Given the description of an element on the screen output the (x, y) to click on. 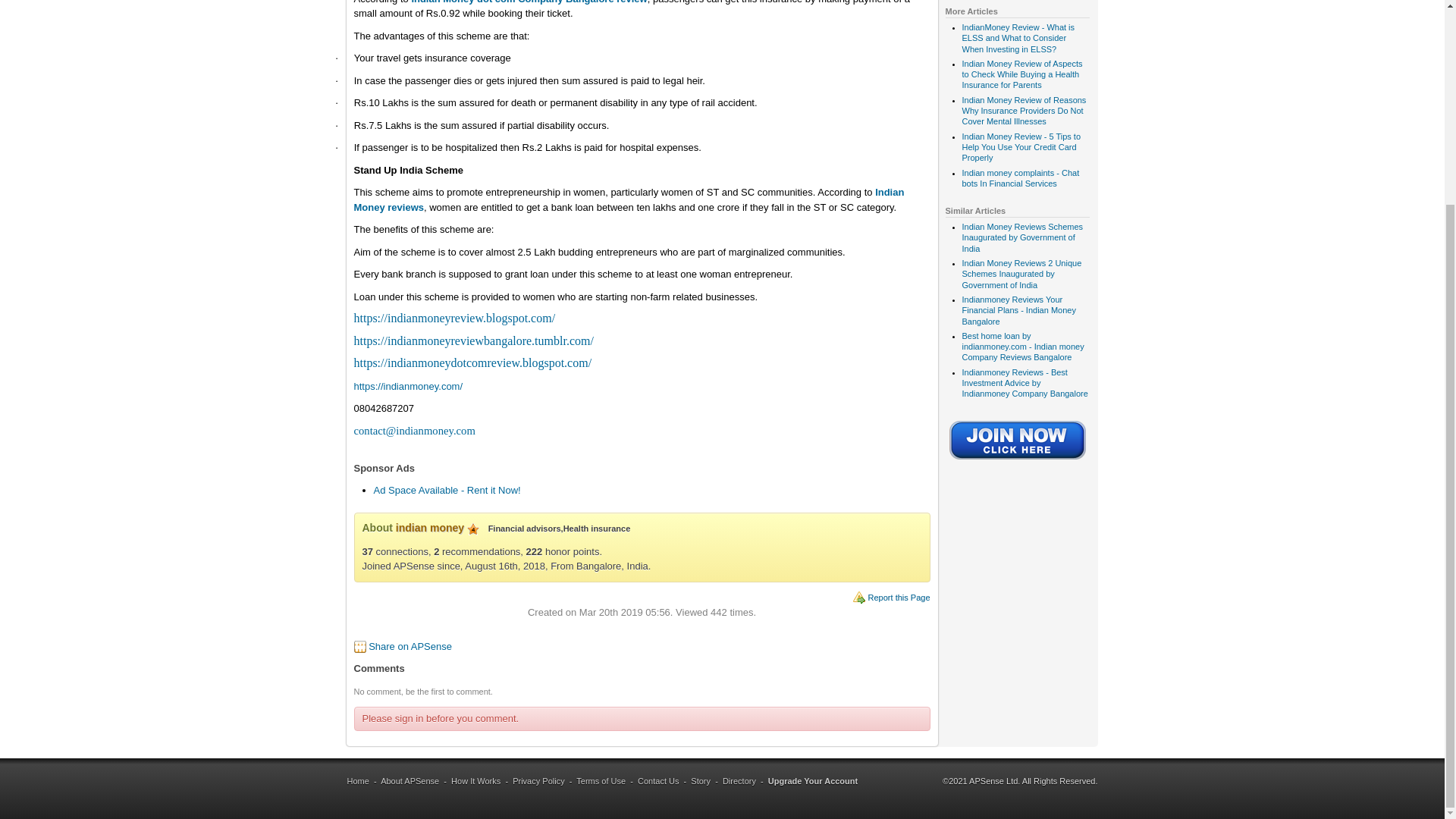
Indian Money dot com Company Bangalore review (528, 2)
Report this Page (898, 596)
indian money (430, 527)
Indian Money reviews (628, 199)
